Given the description of an element on the screen output the (x, y) to click on. 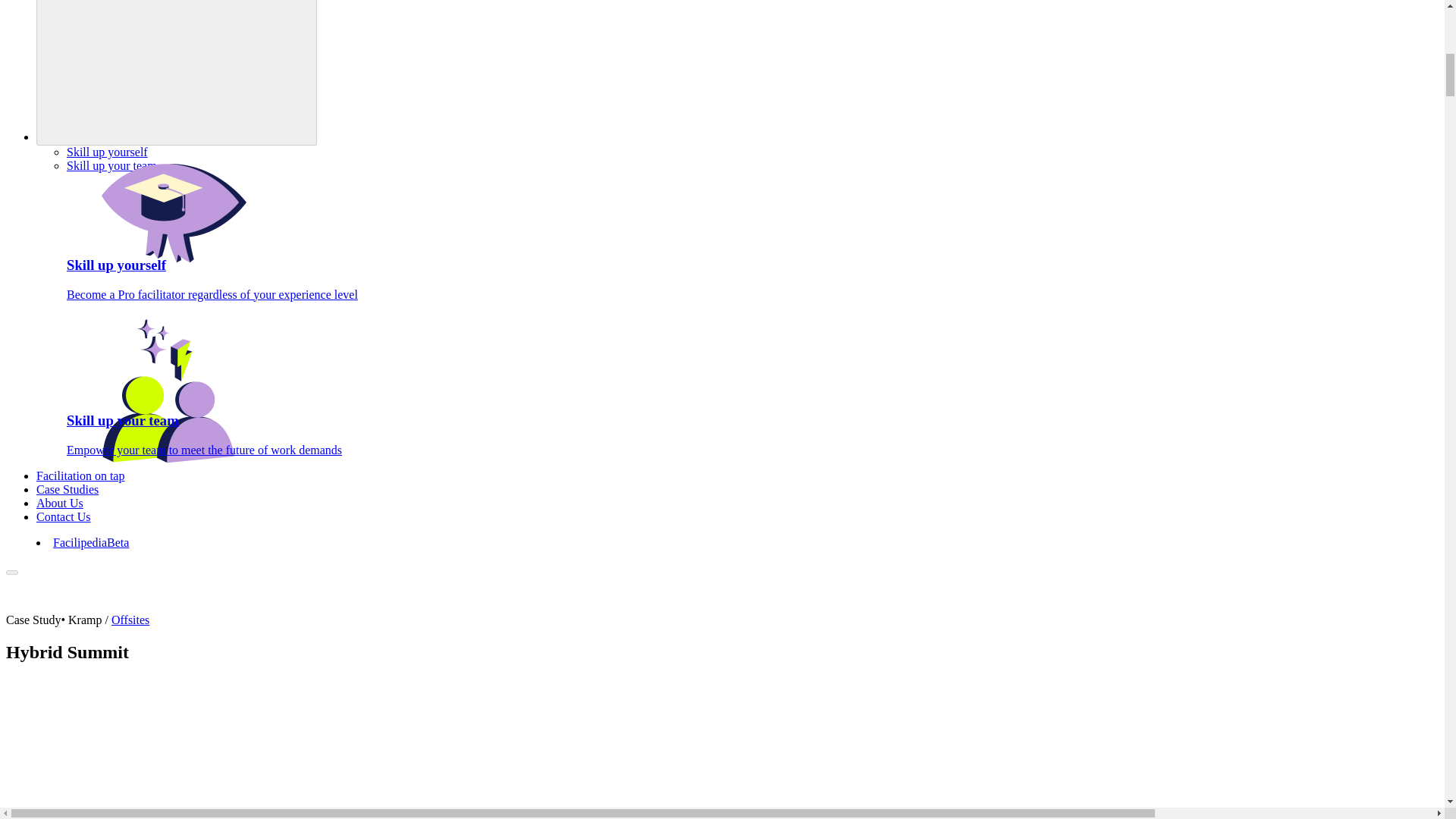
About Us (59, 502)
Skill up yourself (107, 151)
Skill up your team (111, 164)
Trainings (176, 72)
Case Studies (67, 489)
Contact Us (63, 516)
FacilipediaBeta (90, 542)
Facilitation on tap (79, 475)
